Given the description of an element on the screen output the (x, y) to click on. 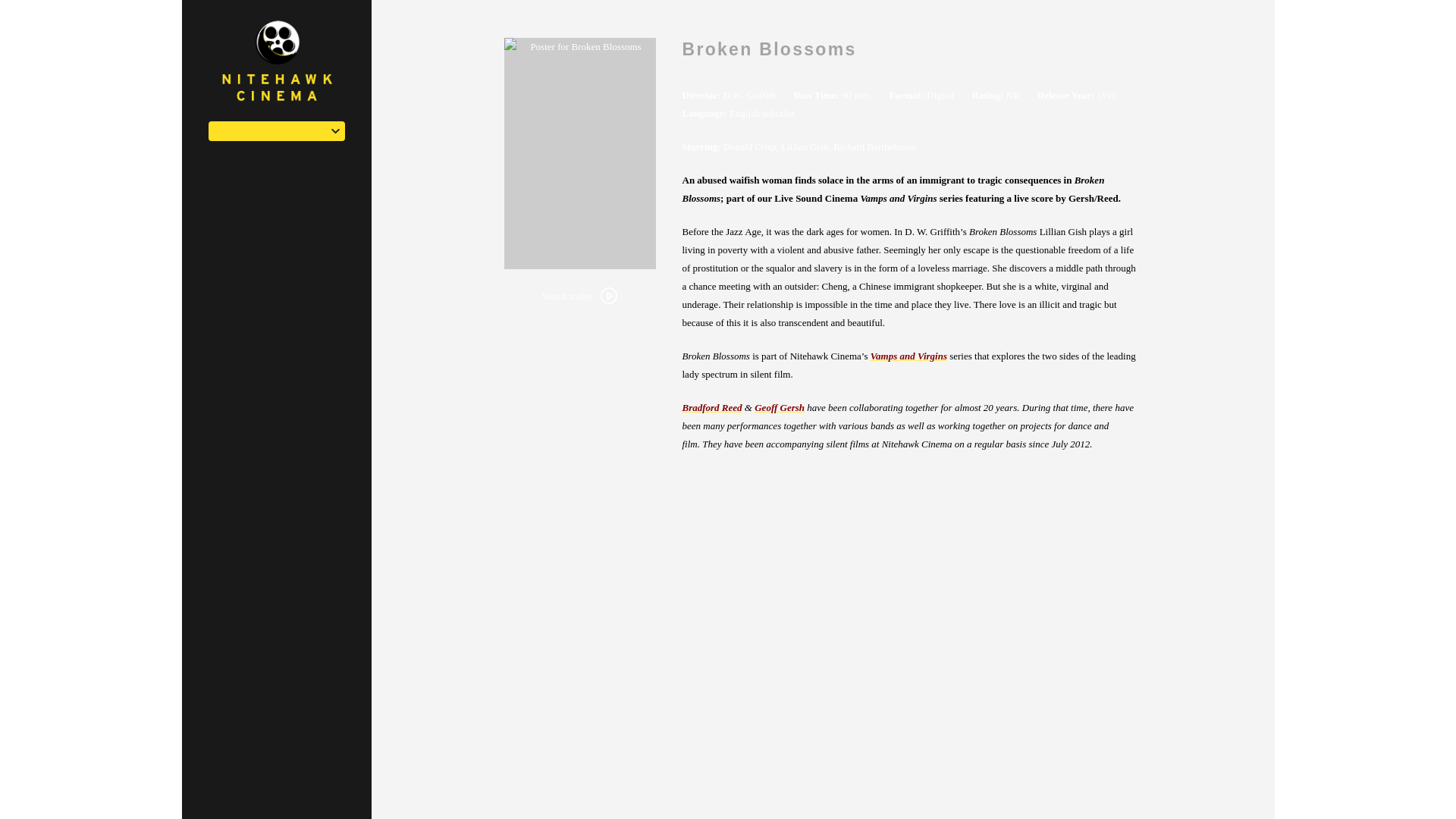
Bradford Reed (712, 407)
Geoff Gersh (779, 407)
Watch trailer (579, 296)
Vamps and Virgins (908, 355)
